Given the description of an element on the screen output the (x, y) to click on. 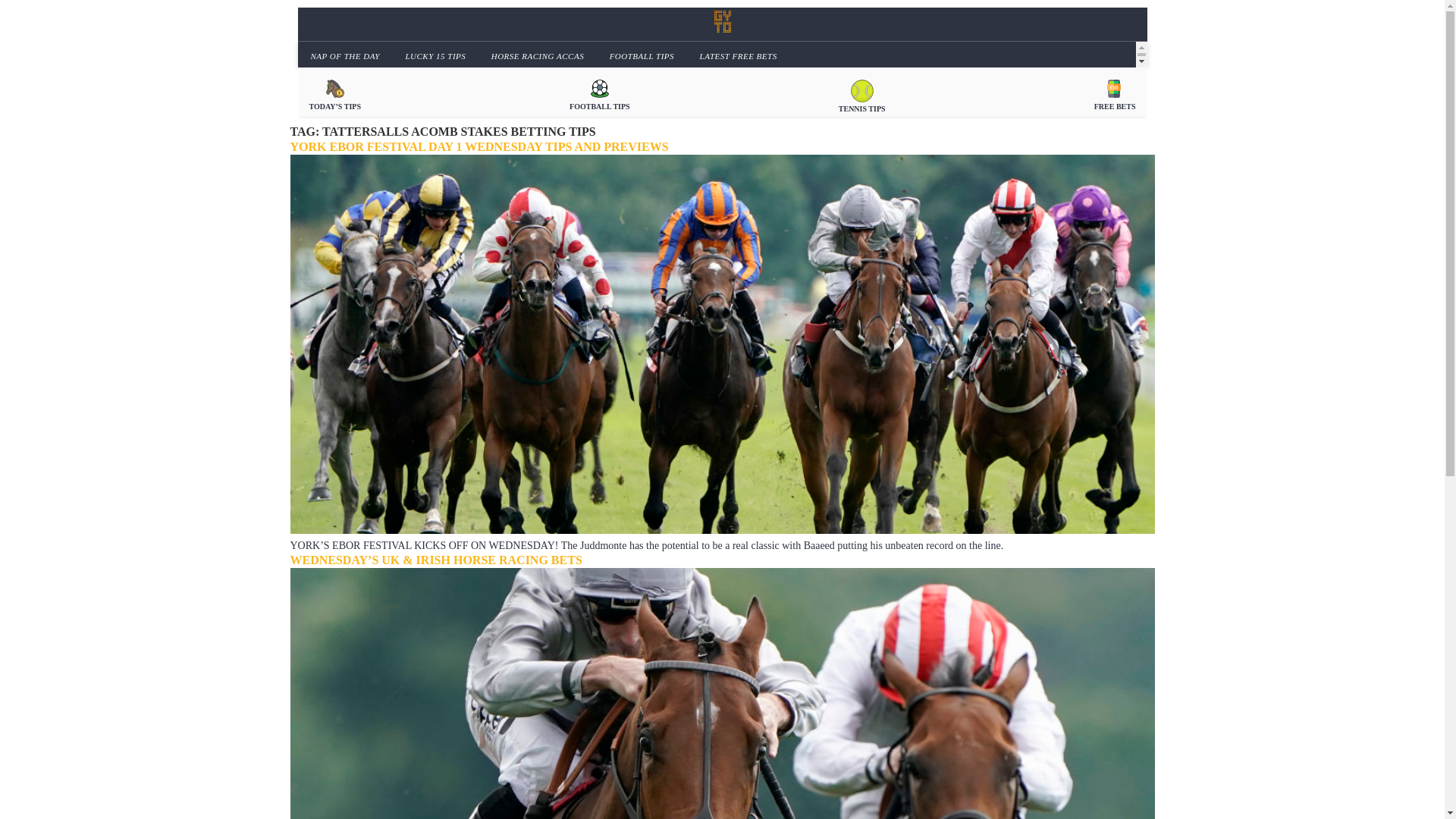
FOOTBALL TIPS (639, 54)
FREE BETS (1114, 93)
TENNIS TIPS (861, 93)
HORSE RACING ACCAS (535, 54)
LATEST FREE BETS (736, 54)
FOOTBALL TIPS (599, 93)
LUCKY 15 TIPS (432, 54)
NAP OF THE DAY (342, 54)
YORK EBOR FESTIVAL DAY 1 WEDNESDAY TIPS AND PREVIEWS (478, 146)
